Given the description of an element on the screen output the (x, y) to click on. 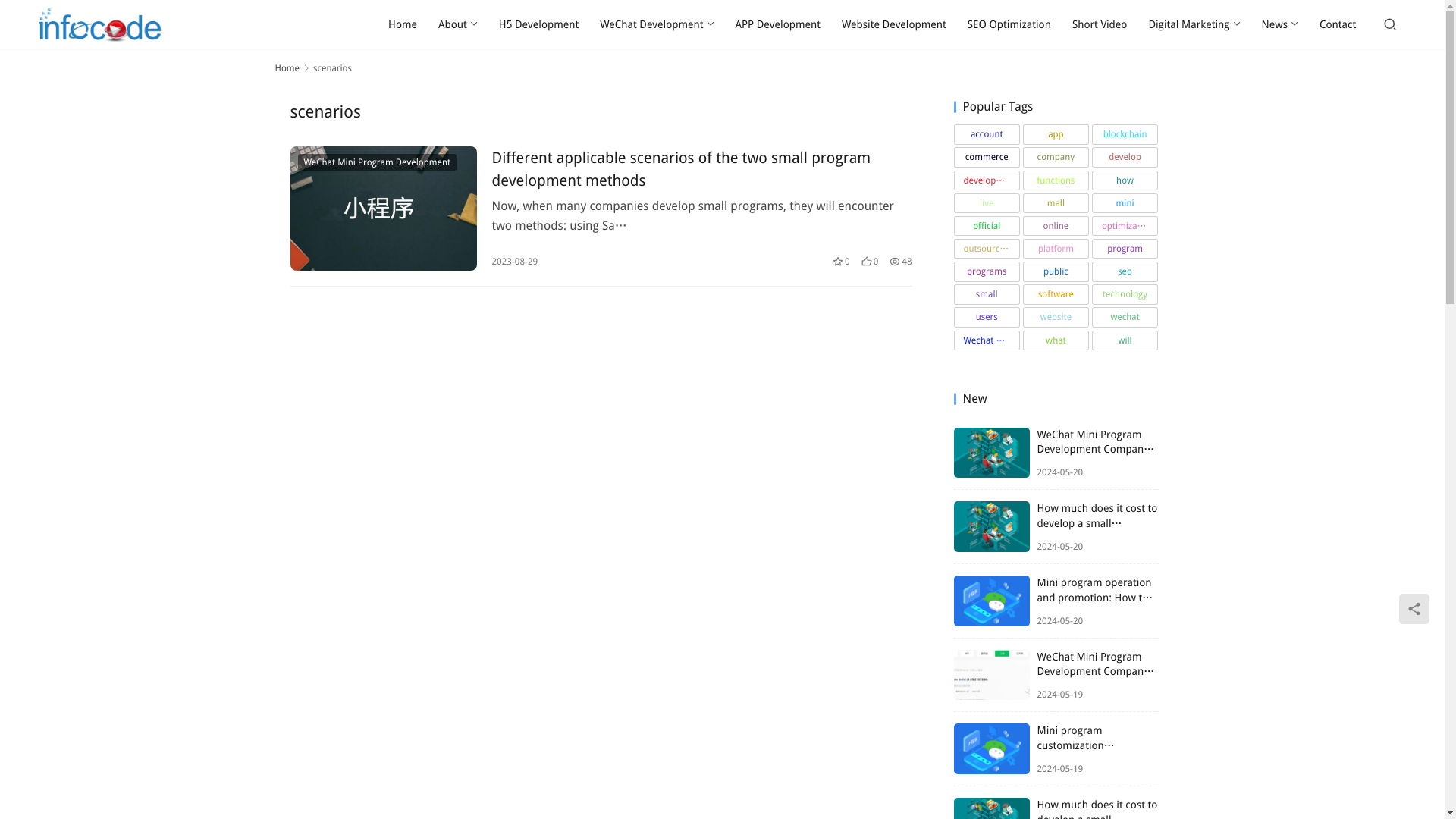
WeChat Development (656, 24)
SEO Optimization (1008, 24)
Home (287, 68)
H5 Development (538, 24)
app (1056, 134)
mall (1056, 202)
Views (900, 261)
About (457, 24)
company (1056, 157)
Contact (1337, 24)
live (986, 202)
